Given the description of an element on the screen output the (x, y) to click on. 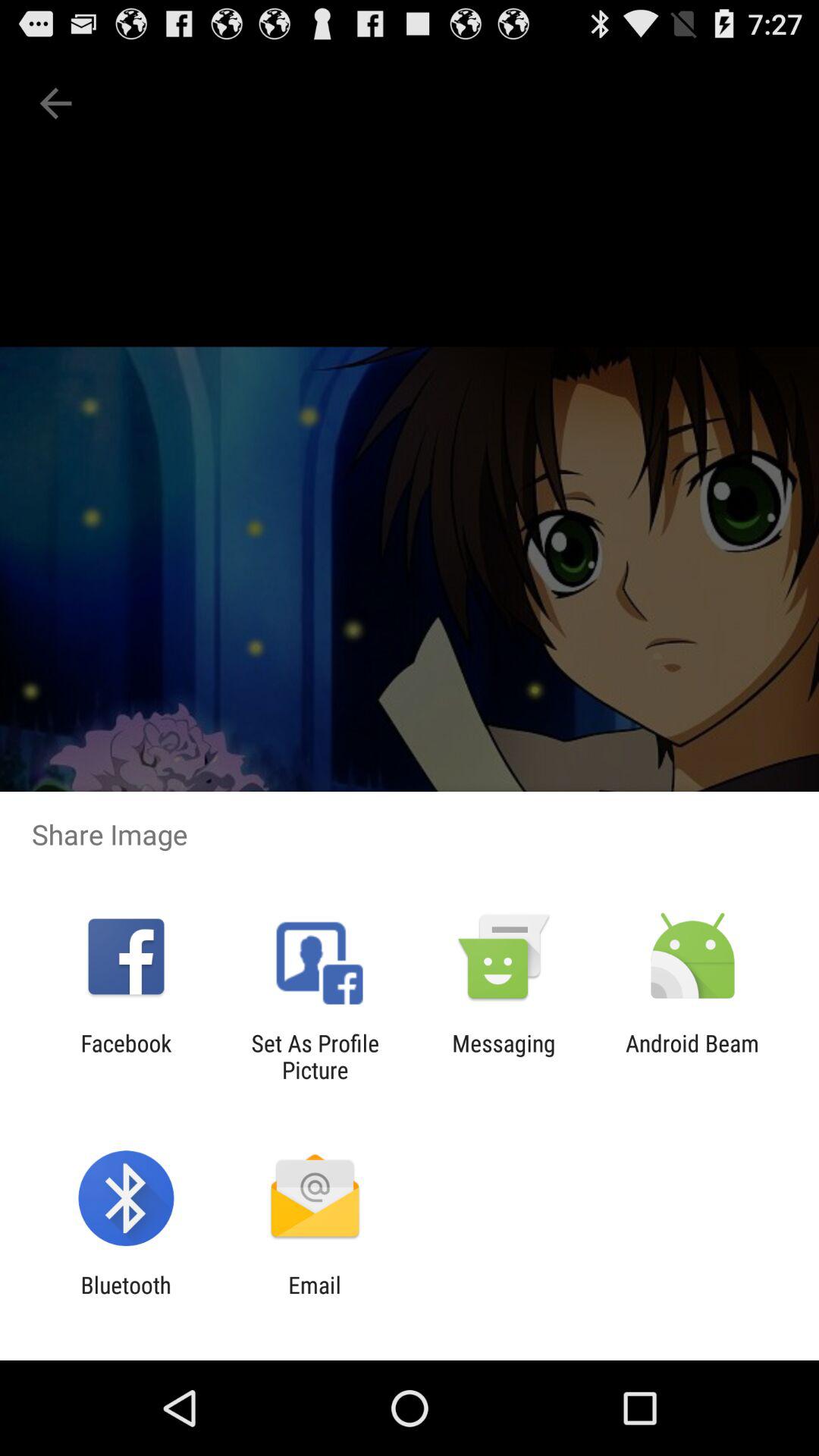
launch item to the right of the messaging app (692, 1056)
